Given the description of an element on the screen output the (x, y) to click on. 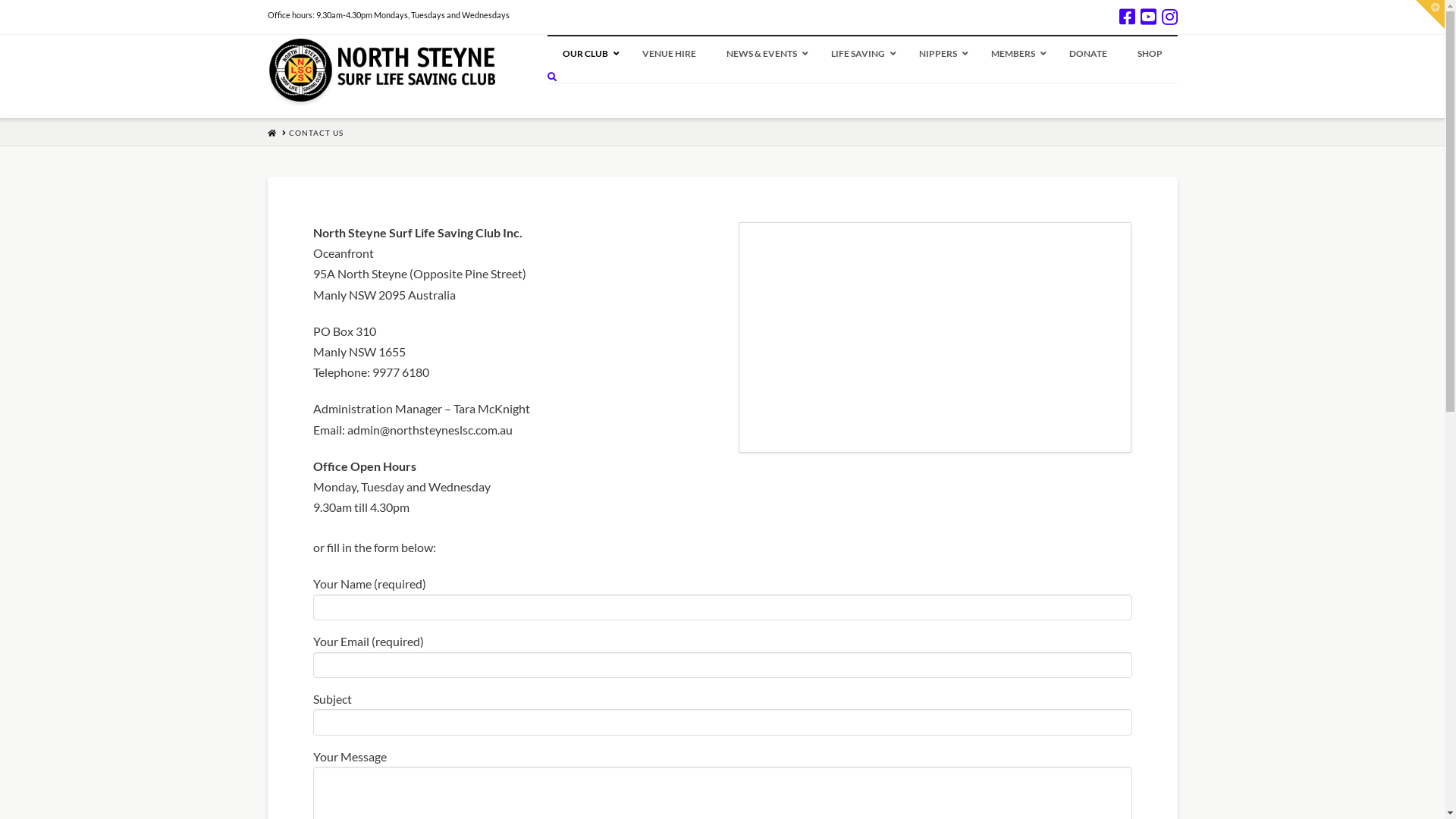
NEWS & EVENTS Element type: text (763, 53)
NIPPERS Element type: text (939, 53)
Toggle the Widgetbar Element type: text (1429, 14)
CONTACT US Element type: text (315, 132)
Instagram Element type: hover (1169, 16)
Facebook Element type: hover (1127, 16)
SHOP Element type: text (1149, 53)
LIFE SAVING Element type: text (859, 53)
VENUE HIRE Element type: text (668, 53)
DONATE Element type: text (1088, 53)
OUR CLUB Element type: text (587, 53)
MEMBERS Element type: text (1014, 53)
YouTube Element type: hover (1148, 16)
HOME Element type: text (271, 132)
